Given the description of an element on the screen output the (x, y) to click on. 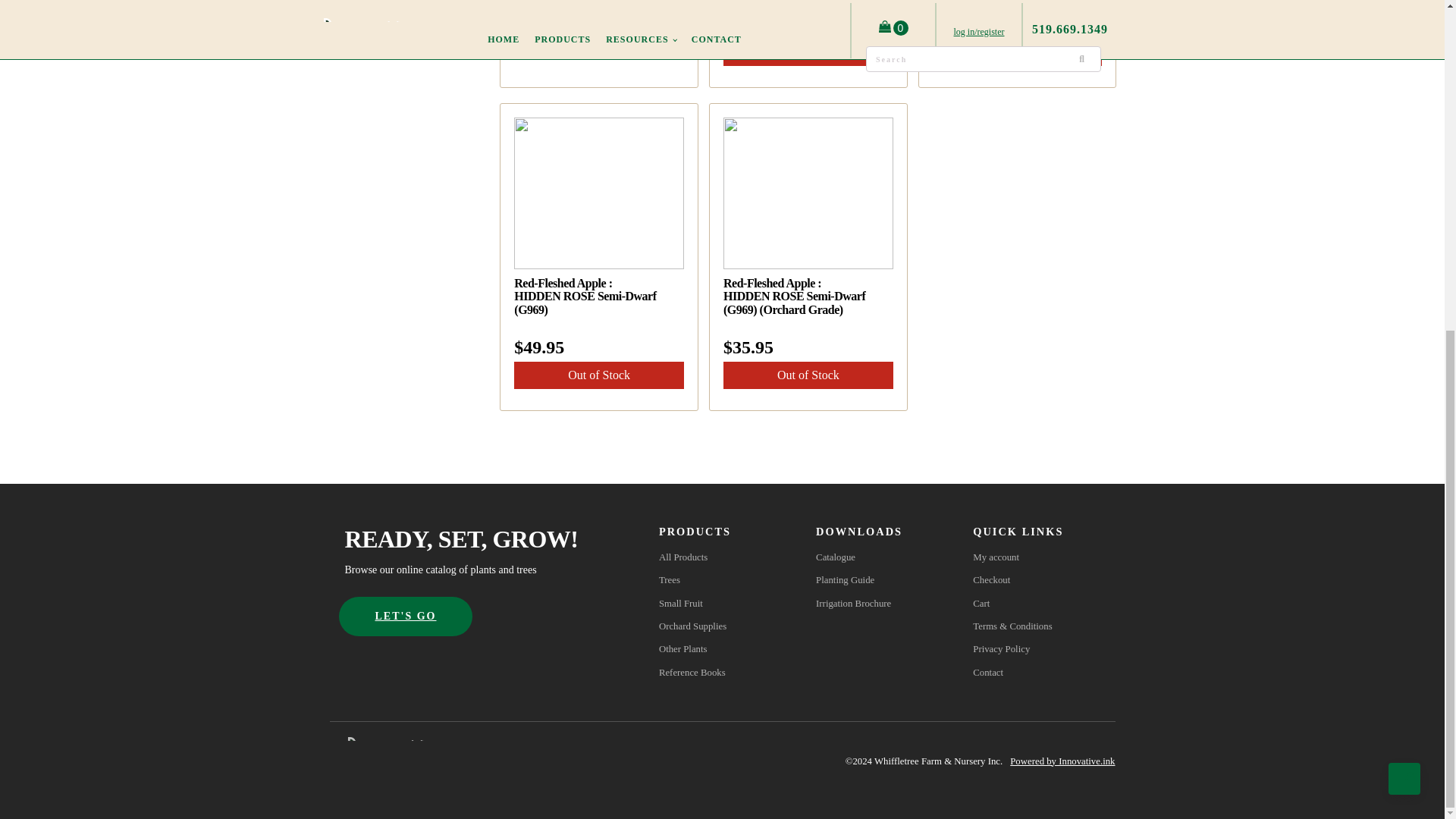
Small Fruit (692, 603)
Trees (692, 579)
All Products (692, 557)
LET'S GO (406, 616)
Apple Growing Tip (598, 4)
